Given the description of an element on the screen output the (x, y) to click on. 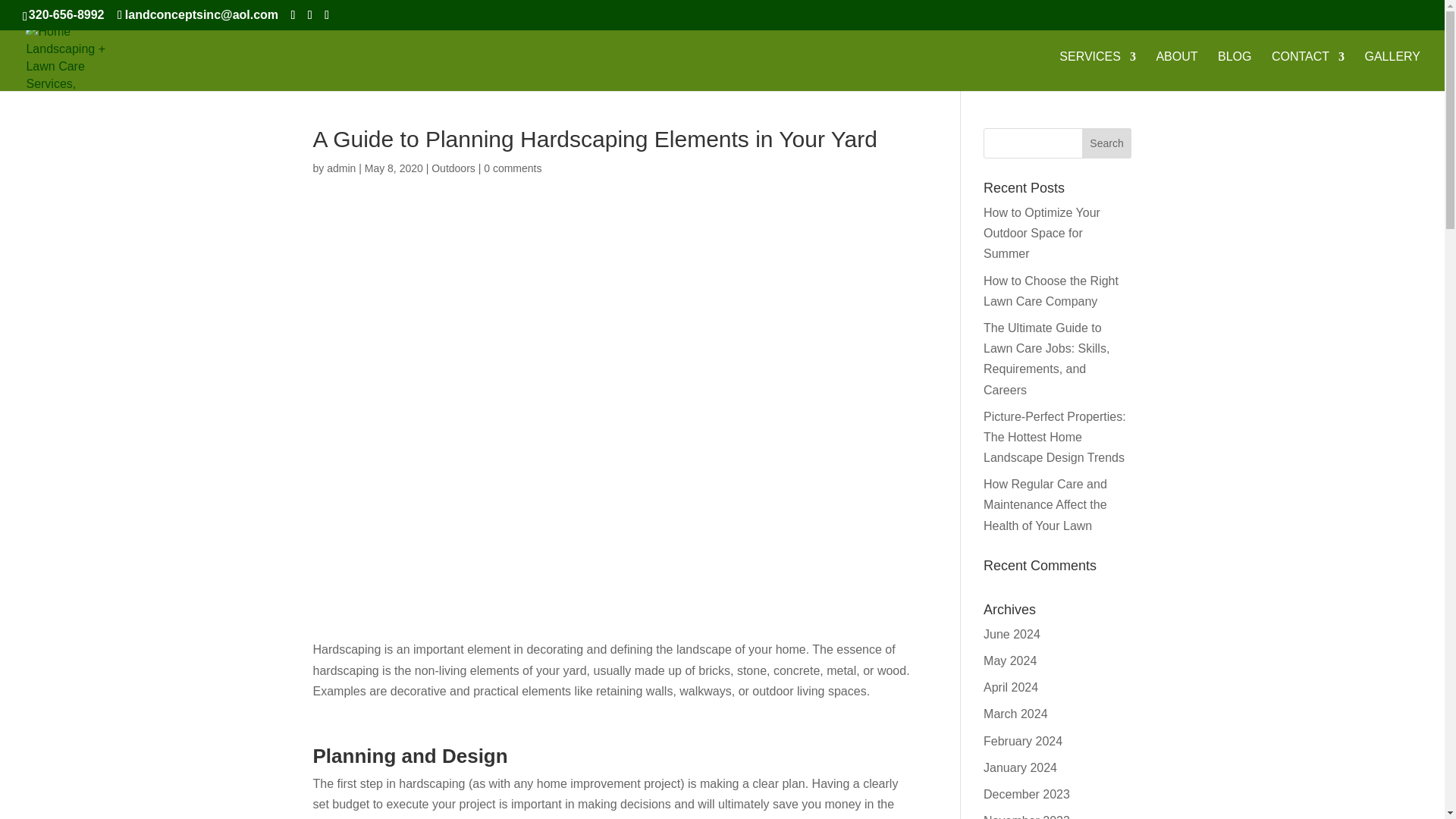
How to Choose the Right Lawn Care Company  (1051, 290)
January 2024 (1020, 767)
April 2024 (1011, 686)
320-656-8992 (66, 14)
Search (1106, 142)
June 2024 (1012, 634)
Search (1106, 142)
December 2023 (1027, 793)
0 comments (512, 168)
How to Optimize Your Outdoor Space for Summer  (1042, 233)
